Given the description of an element on the screen output the (x, y) to click on. 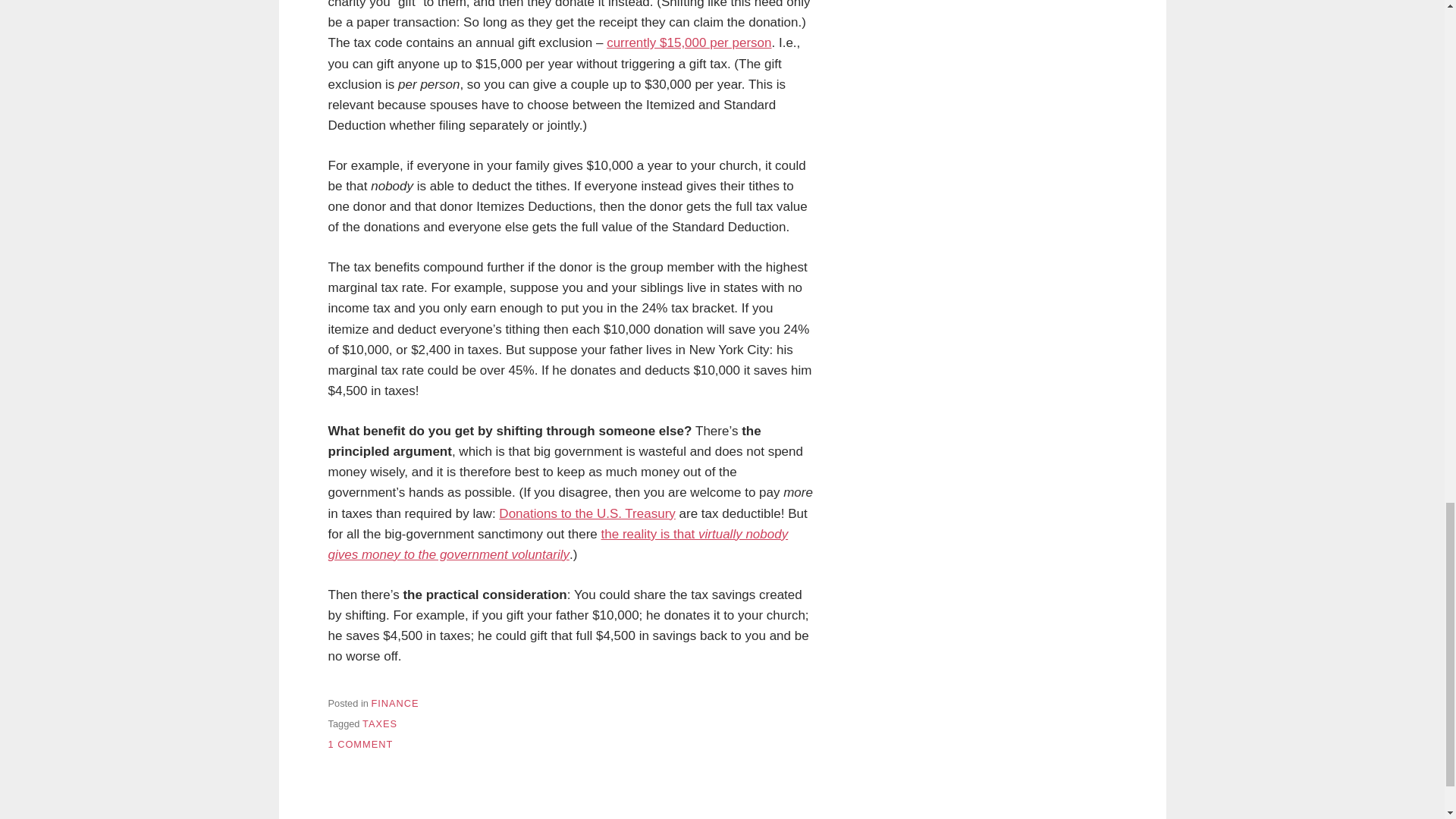
FINANCE (360, 744)
Donations to the U.S. Treasury (395, 703)
TAXES (587, 513)
